Given the description of an element on the screen output the (x, y) to click on. 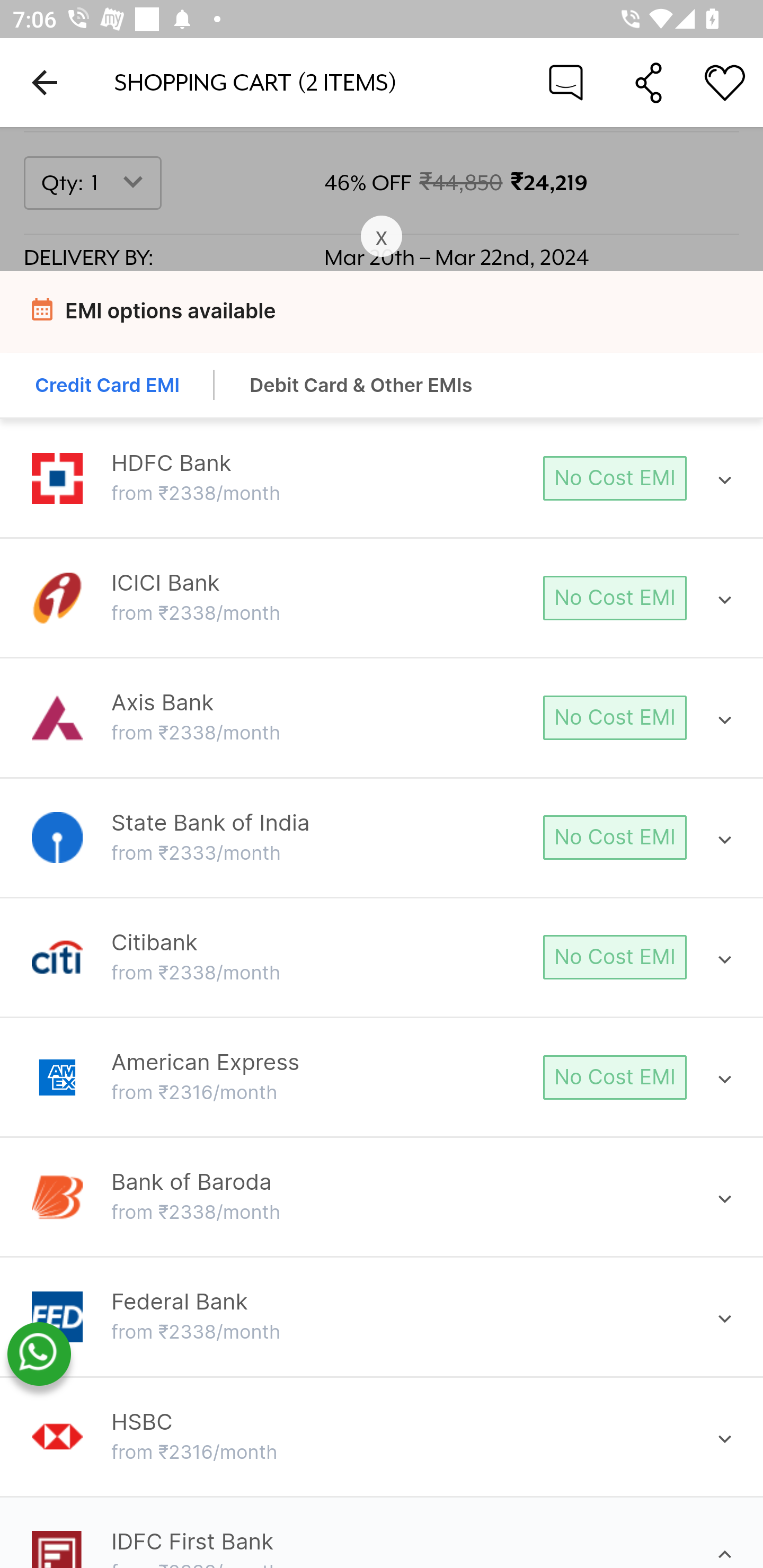
Navigate up (44, 82)
Chat (565, 81)
Share Cart (648, 81)
Wishlist (724, 81)
x (381, 237)
Credit Card EMI (107, 386)
Debit Card & Other EMIs (361, 386)
HDFC Bank HDFC Bank from ₹2338/month No Cost EMI (381, 478)
ICICI Bank ICICI Bank from ₹2338/month No Cost EMI (381, 597)
Axis Bank Axis Bank from ₹2338/month No Cost EMI (381, 717)
Citibank Citibank from ₹2338/month No Cost EMI (381, 956)
Bank of Baroda Bank of Baroda from ₹2338/month (381, 1196)
Federal Bank Federal Bank from ₹2338/month (381, 1316)
whatsapp (38, 1354)
HSBC HSBC from ₹2316/month (381, 1436)
IDFC First Bank IDFC First Bank from ₹2338/month (381, 1548)
